Given the description of an element on the screen output the (x, y) to click on. 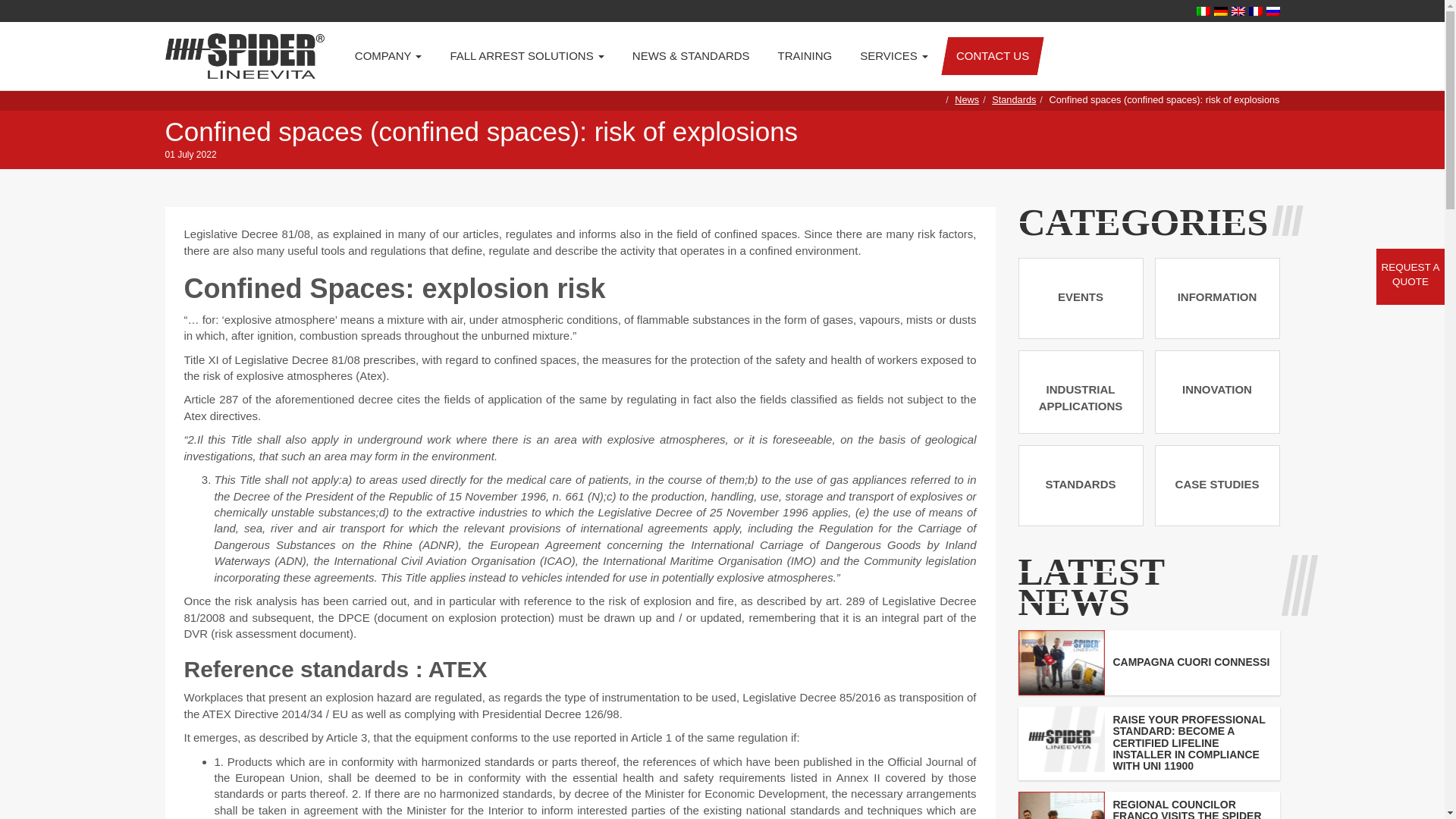
Fall arrest solutions (526, 55)
Training (805, 55)
COMPANY (388, 55)
TRAINING (805, 55)
Company (388, 55)
Standards (1013, 99)
CONTACT US (992, 55)
News (966, 99)
FALL ARREST SOLUTIONS (526, 55)
Services (893, 55)
